Given the description of an element on the screen output the (x, y) to click on. 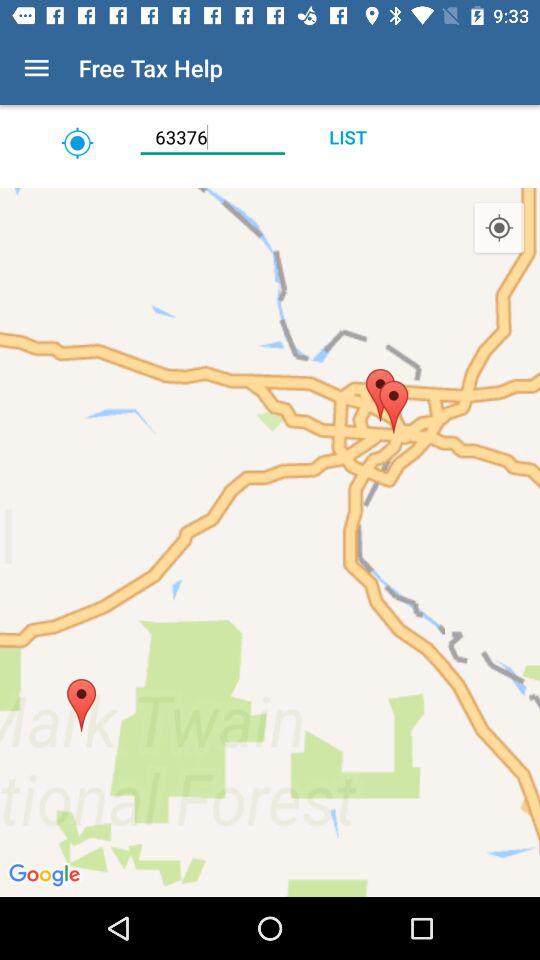
rotate navigation (270, 180)
